Given the description of an element on the screen output the (x, y) to click on. 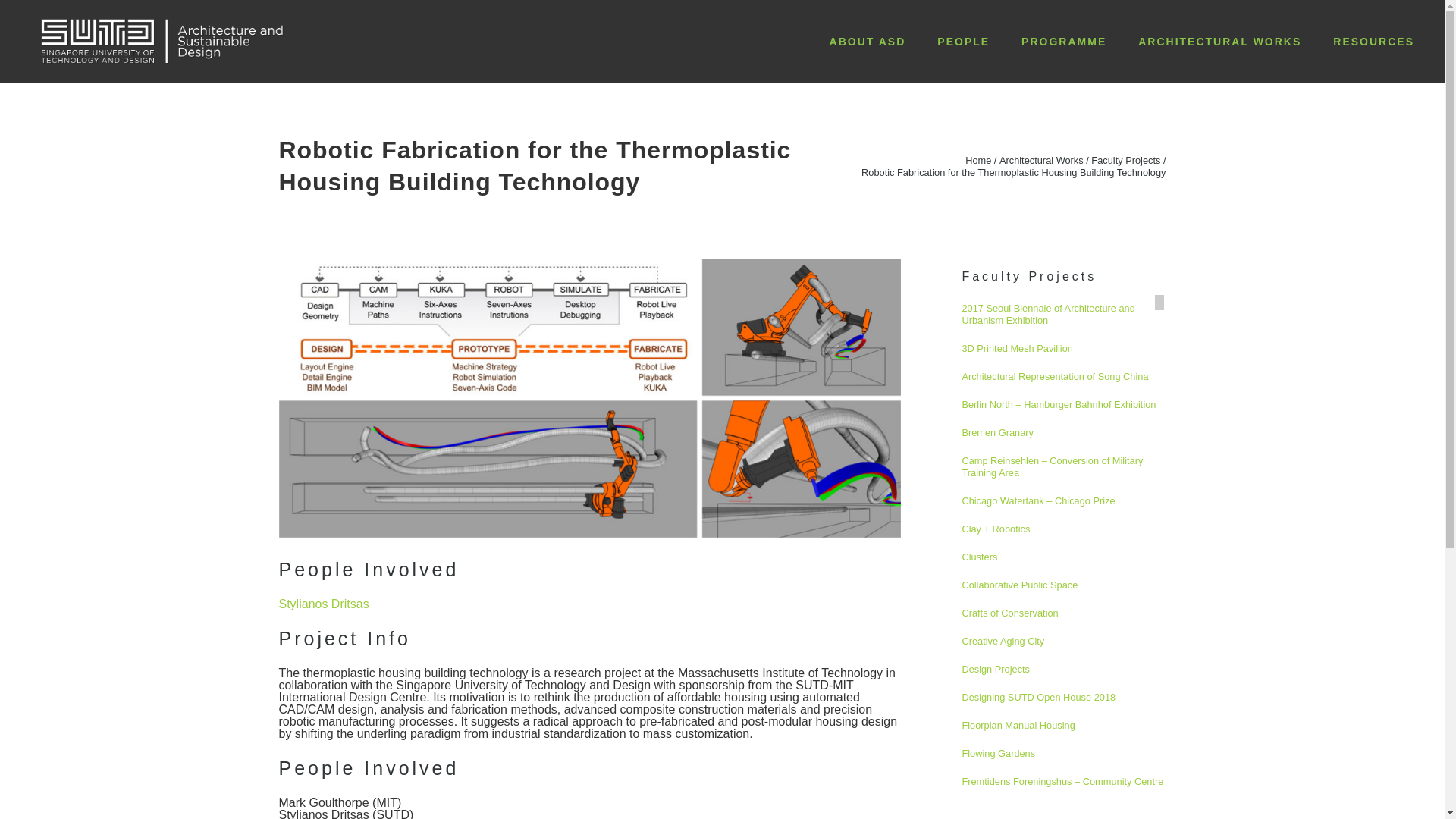
ABOUT ASD (867, 41)
PROGRAMME (1064, 41)
